Given the description of an element on the screen output the (x, y) to click on. 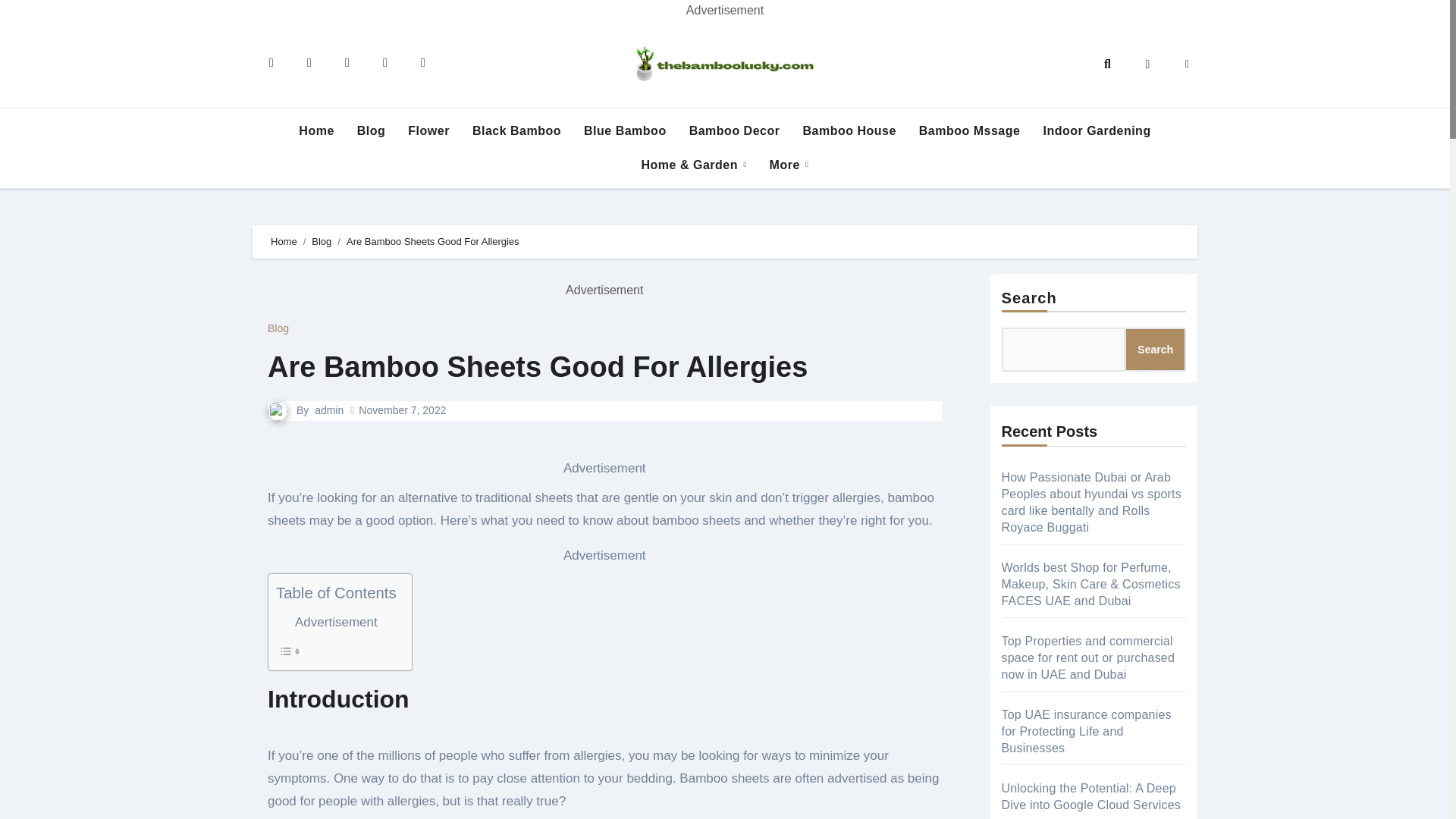
Blog (321, 241)
Home (283, 241)
Black Bamboo (516, 131)
Blue Bamboo (625, 131)
More (789, 164)
November 7, 2022 (401, 410)
Bamboo House (848, 131)
Flower (428, 131)
Blue Bamboo (625, 131)
Bamboo Mssage (969, 131)
Blog (371, 131)
Black Bamboo (516, 131)
Indoor Gardening (1095, 131)
Are Bamboo Sheets Good For Allergies (537, 367)
Bamboo House (848, 131)
